Given the description of an element on the screen output the (x, y) to click on. 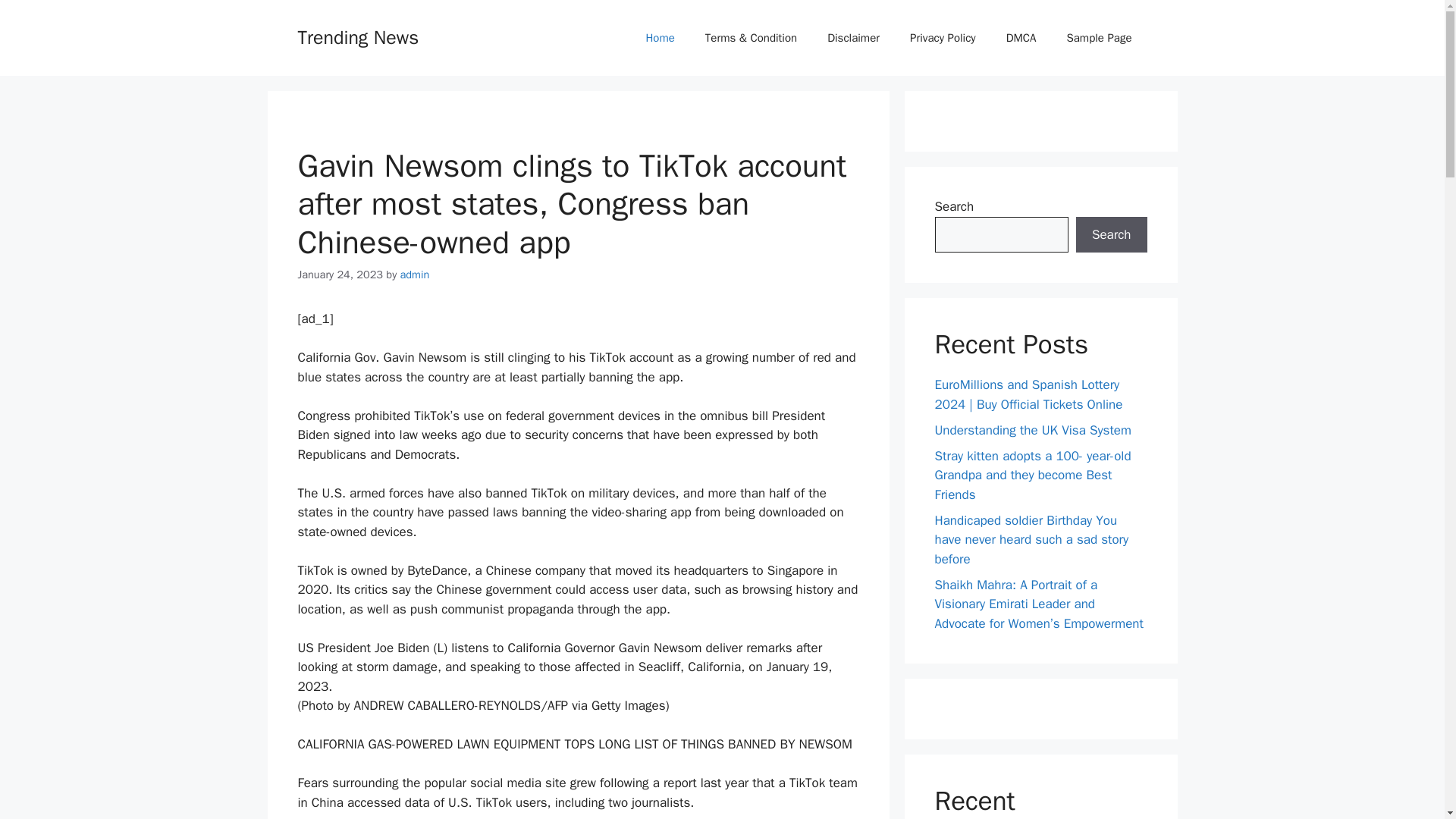
Privacy Policy (943, 37)
Trending News (358, 37)
DMCA (1021, 37)
Sample Page (1099, 37)
Understanding the UK Visa System (1032, 429)
Disclaimer (853, 37)
View all posts by admin (414, 274)
admin (414, 274)
Search (1111, 235)
Home (659, 37)
